Given the description of an element on the screen output the (x, y) to click on. 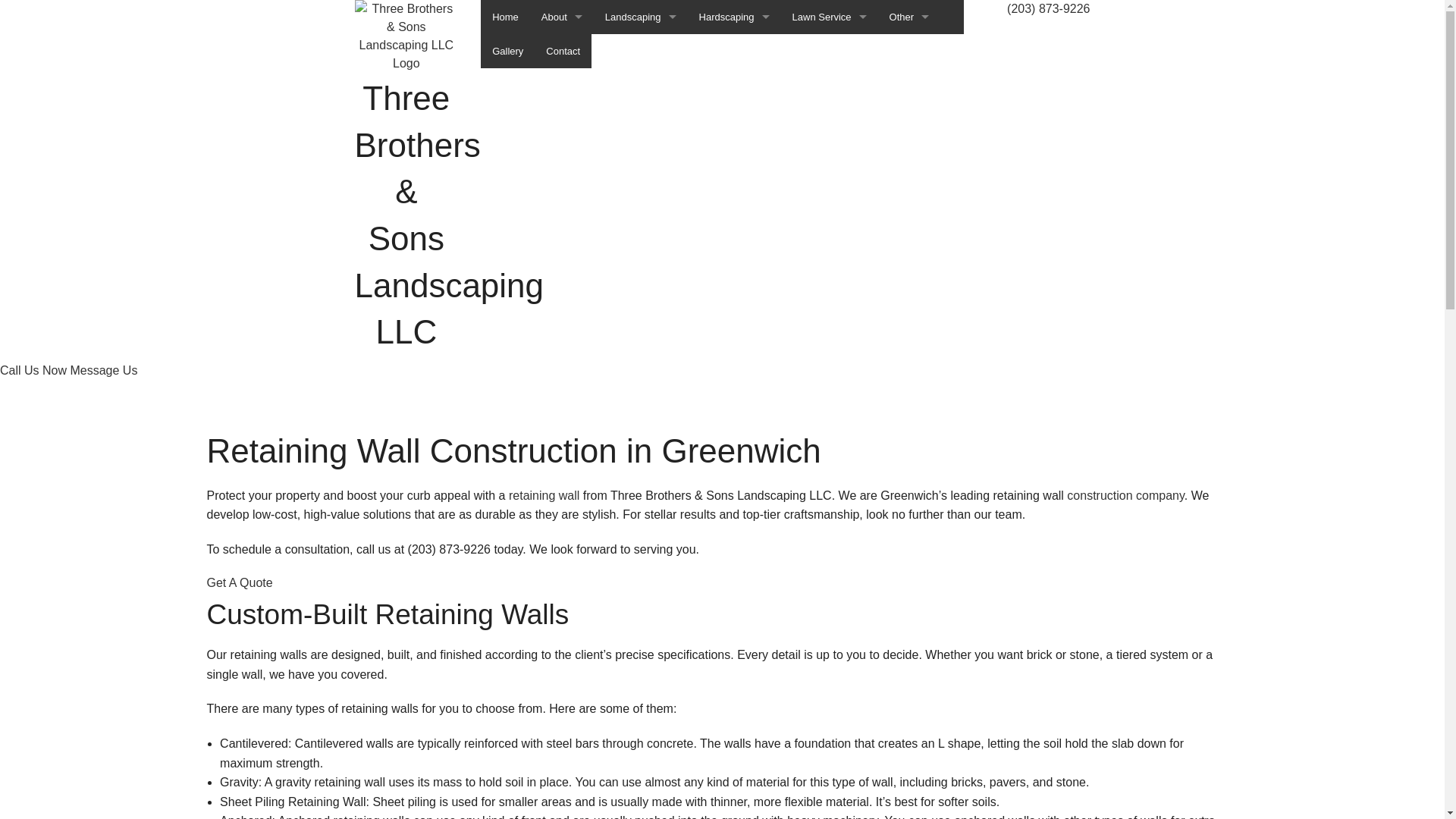
Lawn Maintenance Services Element type: text (829, 119)
Patio Construction Element type: text (734, 119)
Three Brothers & Sons Landscaping LLC Element type: hover (406, 34)
Tree Pruning Element type: text (909, 358)
Shrubs and Hedges Element type: text (909, 221)
Leaf Removal Element type: text (909, 563)
Stump Grinding Element type: text (909, 255)
Other Element type: text (909, 17)
Tree Removal Element type: text (909, 392)
Lawn Care Services Element type: text (829, 85)
Gardening Services Element type: text (640, 51)
FAQ Element type: text (561, 51)
Call Us Now Element type: text (34, 370)
Tree Services Element type: text (909, 426)
Mulching Element type: text (909, 153)
Contact Element type: text (562, 51)
construction company Element type: text (1124, 495)
Gallery Element type: text (507, 51)
Snow Removal Element type: text (909, 631)
Fall Yard Clean-Up Element type: text (909, 528)
Paver Installation Element type: text (734, 153)
Stump Removal Element type: text (909, 290)
Tree Trimming Element type: text (909, 460)
Home Element type: text (505, 17)
Landscape Design Services Element type: text (640, 85)
Seasoned Firewood Element type: text (909, 187)
Landscaping Element type: text (640, 17)
Sod Installation Service Element type: text (909, 665)
retaining wall Element type: text (543, 495)
Hardscaping Services Element type: text (734, 51)
About Element type: text (561, 17)
Lawn Dethatching Element type: text (909, 119)
Outdoor Kitchen Construction Element type: text (734, 85)
(203) 873-9226 Element type: text (1048, 8)
Lawn Mowing Services Element type: text (829, 153)
Landscaping Services Element type: text (640, 153)
Message Us Element type: text (103, 370)
Lawn Service Element type: text (829, 17)
Ice Control Services Element type: text (909, 85)
Retaining Wall Construction Element type: text (734, 187)
Get A Quote Element type: text (239, 582)
Tree Planting Element type: text (909, 324)
Emergency Tree Removal Element type: text (909, 51)
Residential Snow Removal Element type: text (909, 597)
Service Areas Element type: text (561, 85)
Commercial Snow Removal Element type: text (909, 494)
Hardscaping Element type: text (734, 17)
Landscaping Company Element type: text (640, 119)
Lawn Aeration Service Element type: text (829, 51)
